Given the description of an element on the screen output the (x, y) to click on. 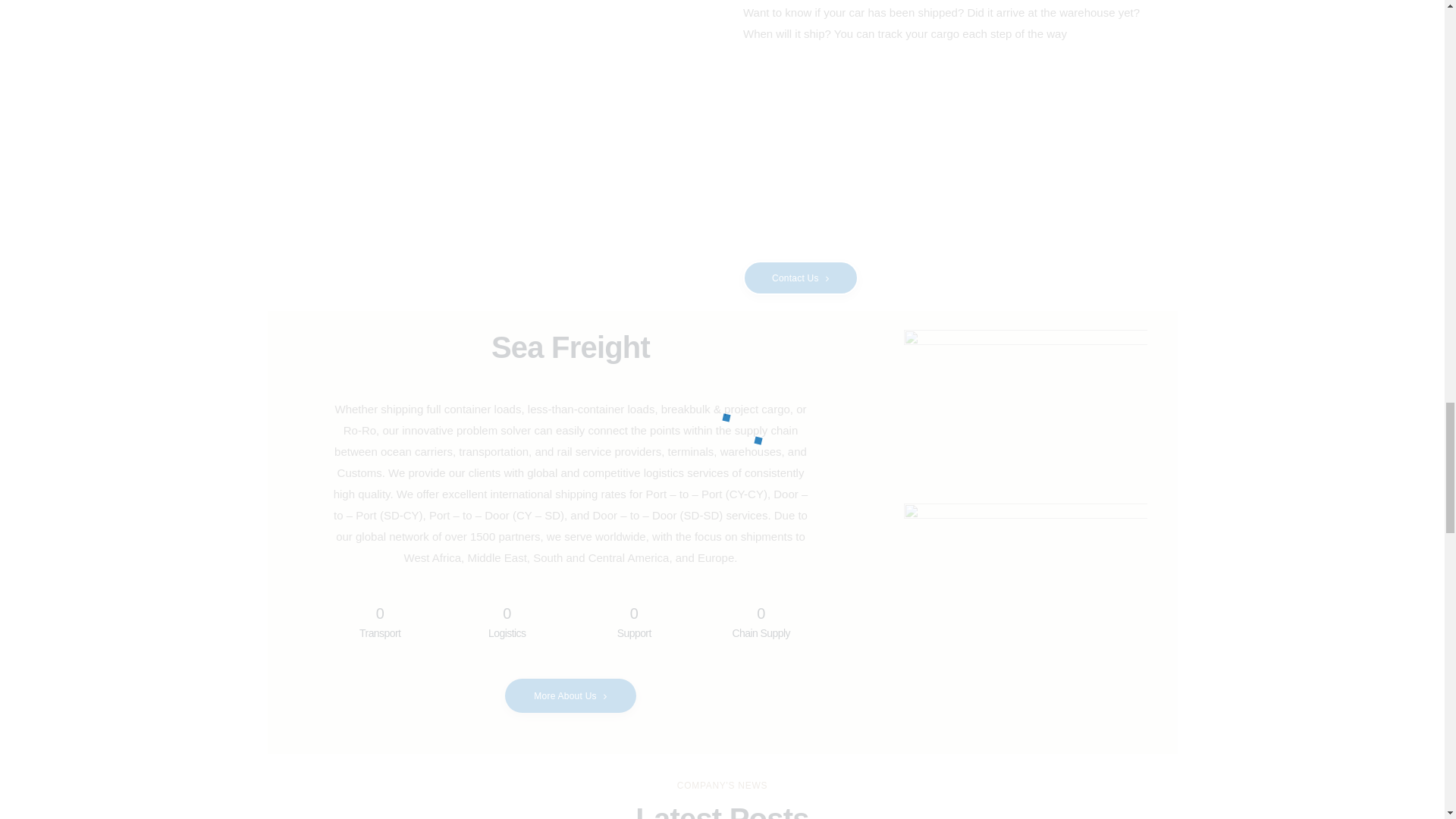
img2 (1025, 584)
Contact Us (800, 277)
img1 (1025, 410)
More About Us (569, 695)
